Given the description of an element on the screen output the (x, y) to click on. 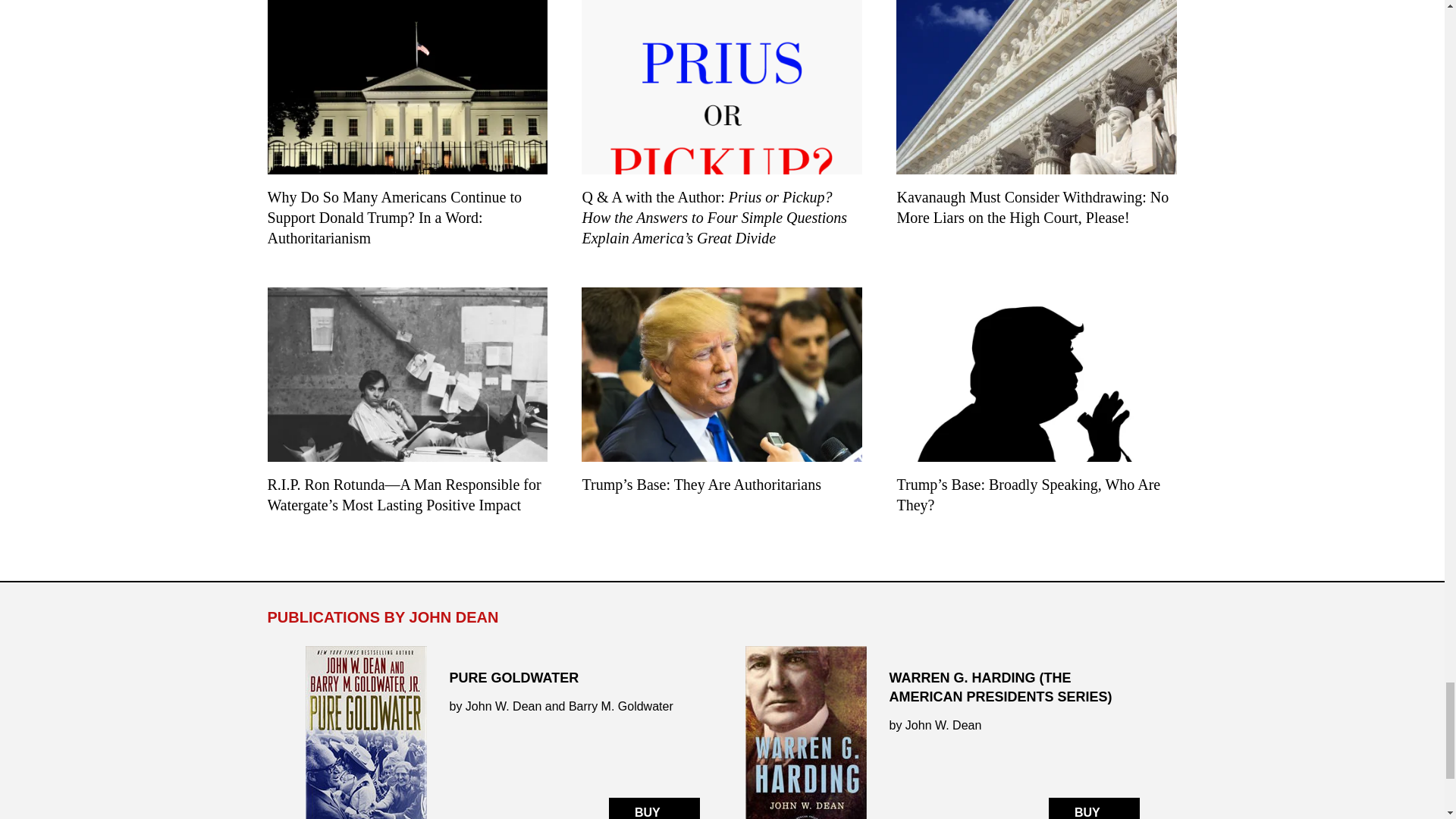
Pure Goldwater (501, 732)
